Given the description of an element on the screen output the (x, y) to click on. 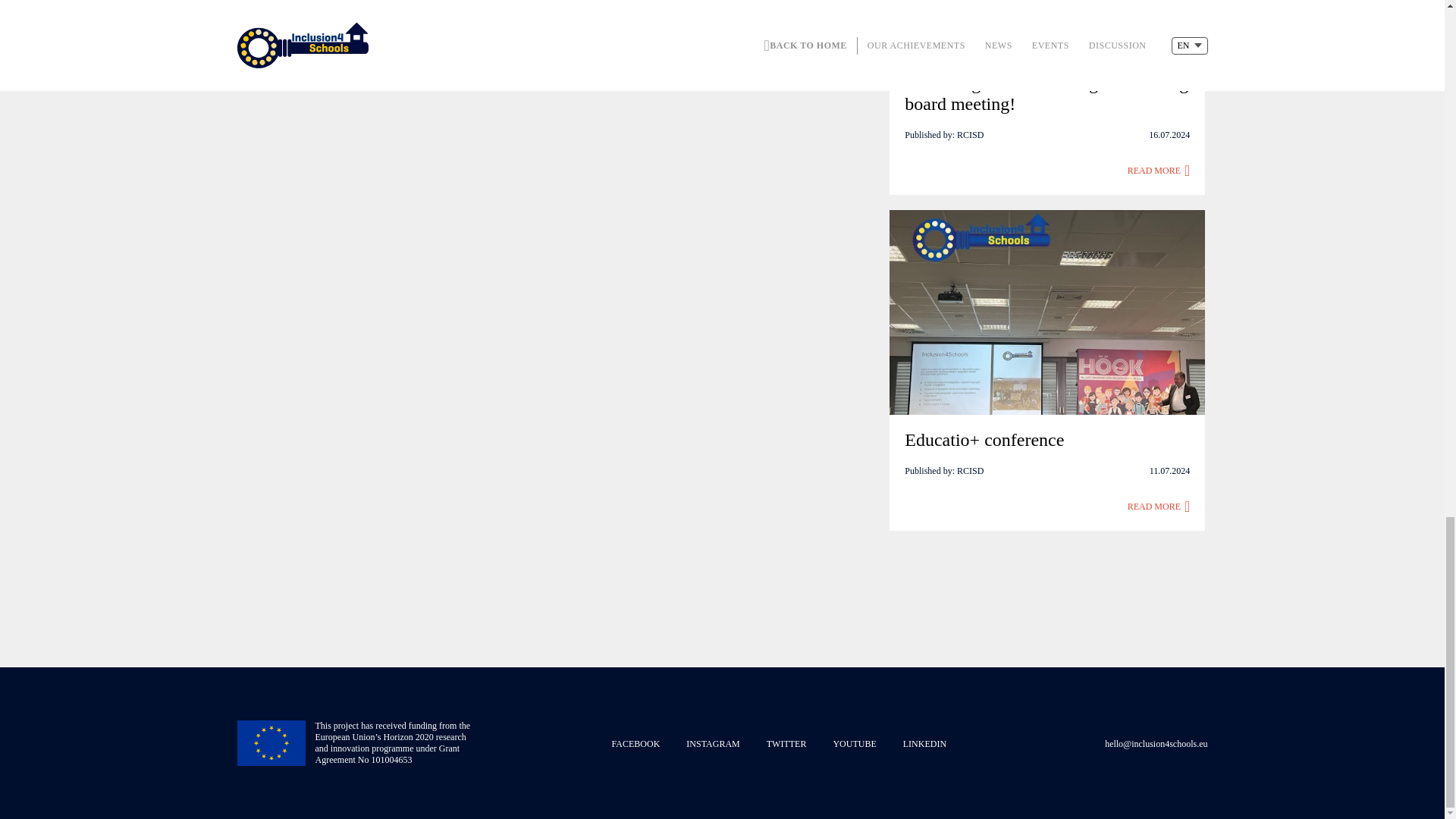
FACEBOOK (636, 743)
YOUTUBE (854, 743)
READ MORE (1158, 170)
READ MORE (1158, 506)
LINKEDIN (924, 743)
INSTAGRAM (712, 743)
TWITTER (786, 743)
